Given the description of an element on the screen output the (x, y) to click on. 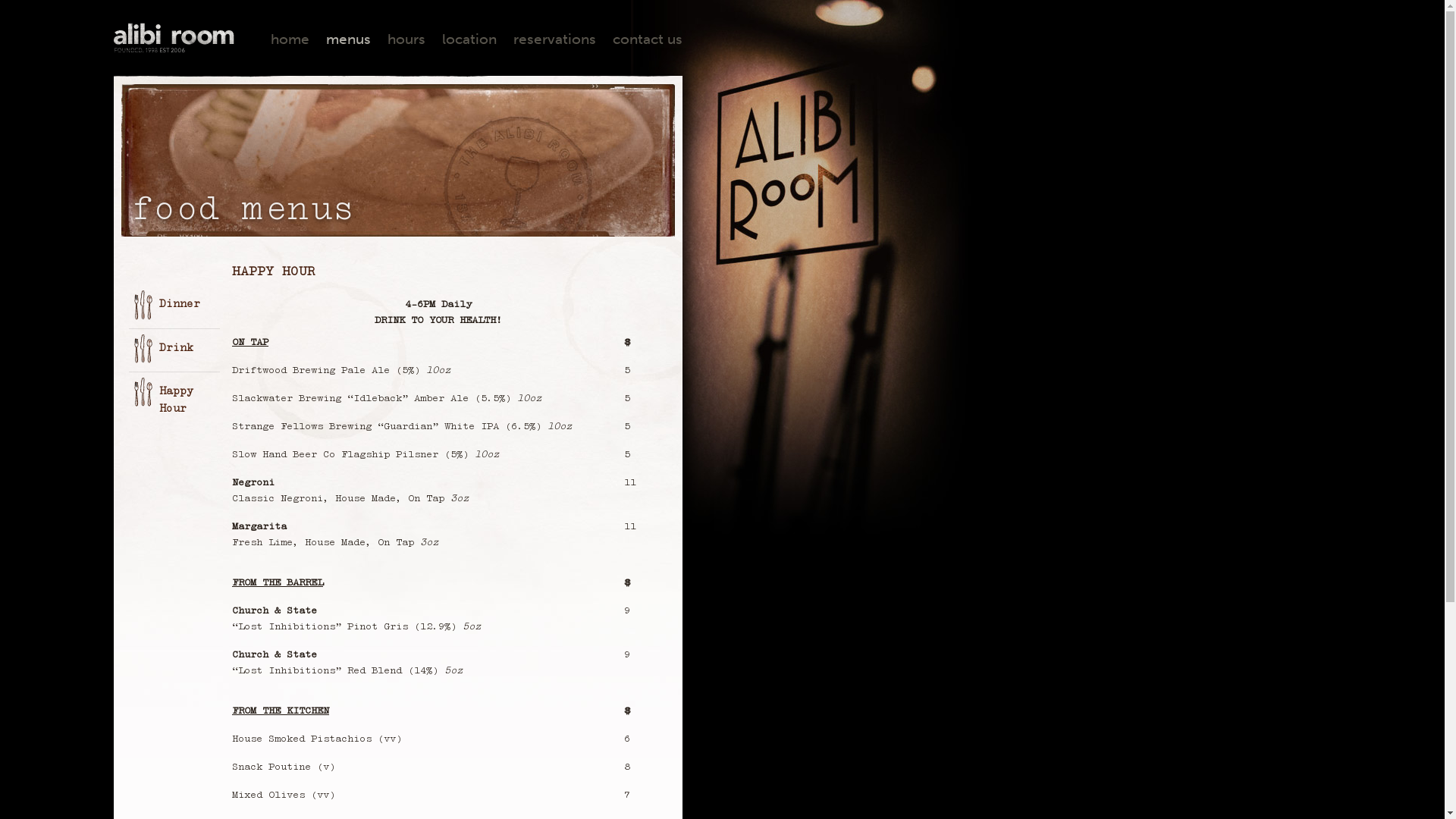
location Element type: text (469, 38)
Happy Hour Element type: text (173, 399)
hours Element type: text (406, 38)
home Element type: text (289, 38)
contact us Element type: text (647, 38)
Dinner Element type: text (173, 303)
Drink Element type: text (173, 347)
Alibi Room Element type: text (174, 37)
reservations Element type: text (554, 38)
menus Element type: text (348, 38)
